Given the description of an element on the screen output the (x, y) to click on. 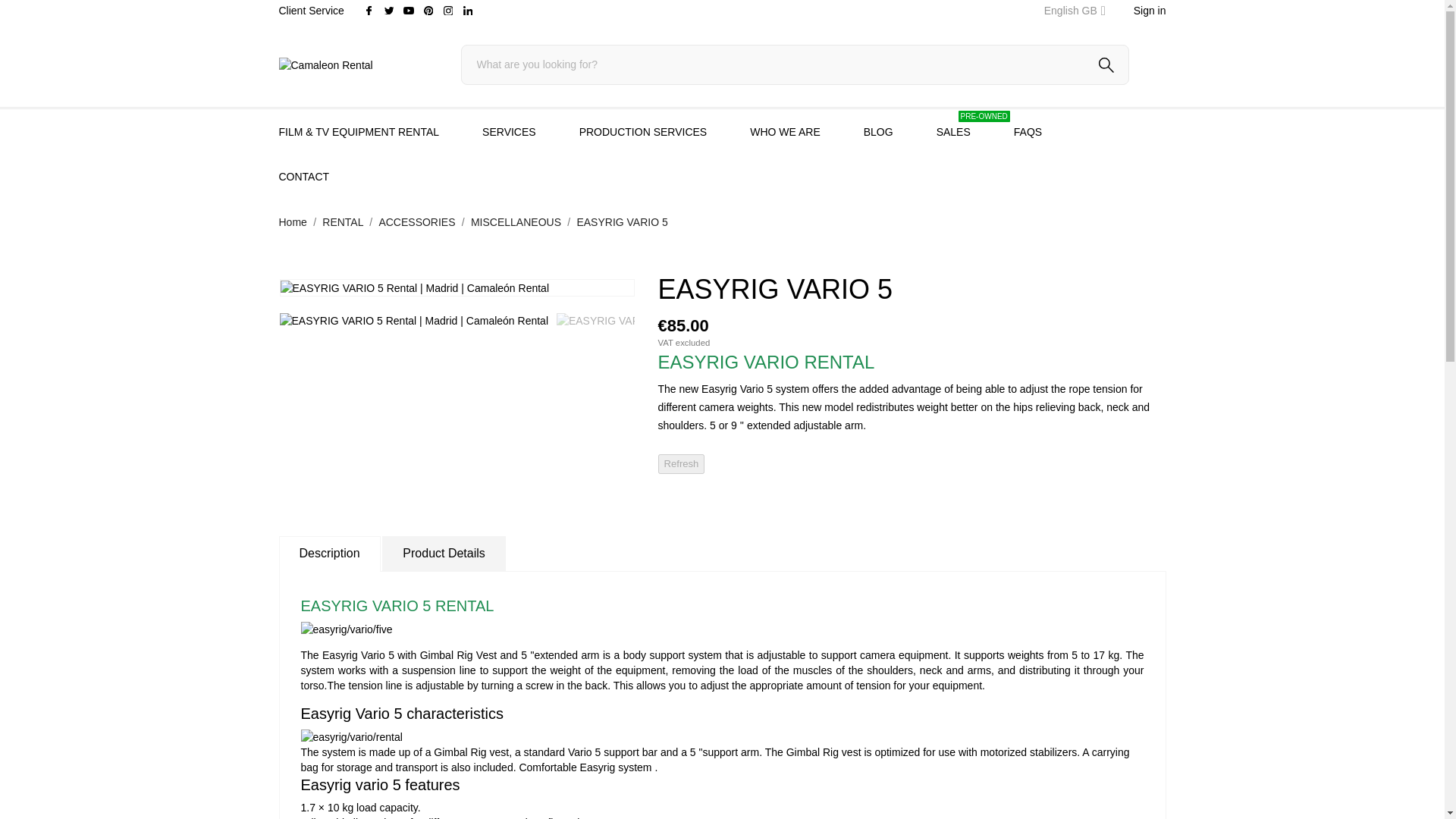
Log in to your customer account (1150, 10)
Sign in (1150, 10)
Refresh (681, 464)
